Given the description of an element on the screen output the (x, y) to click on. 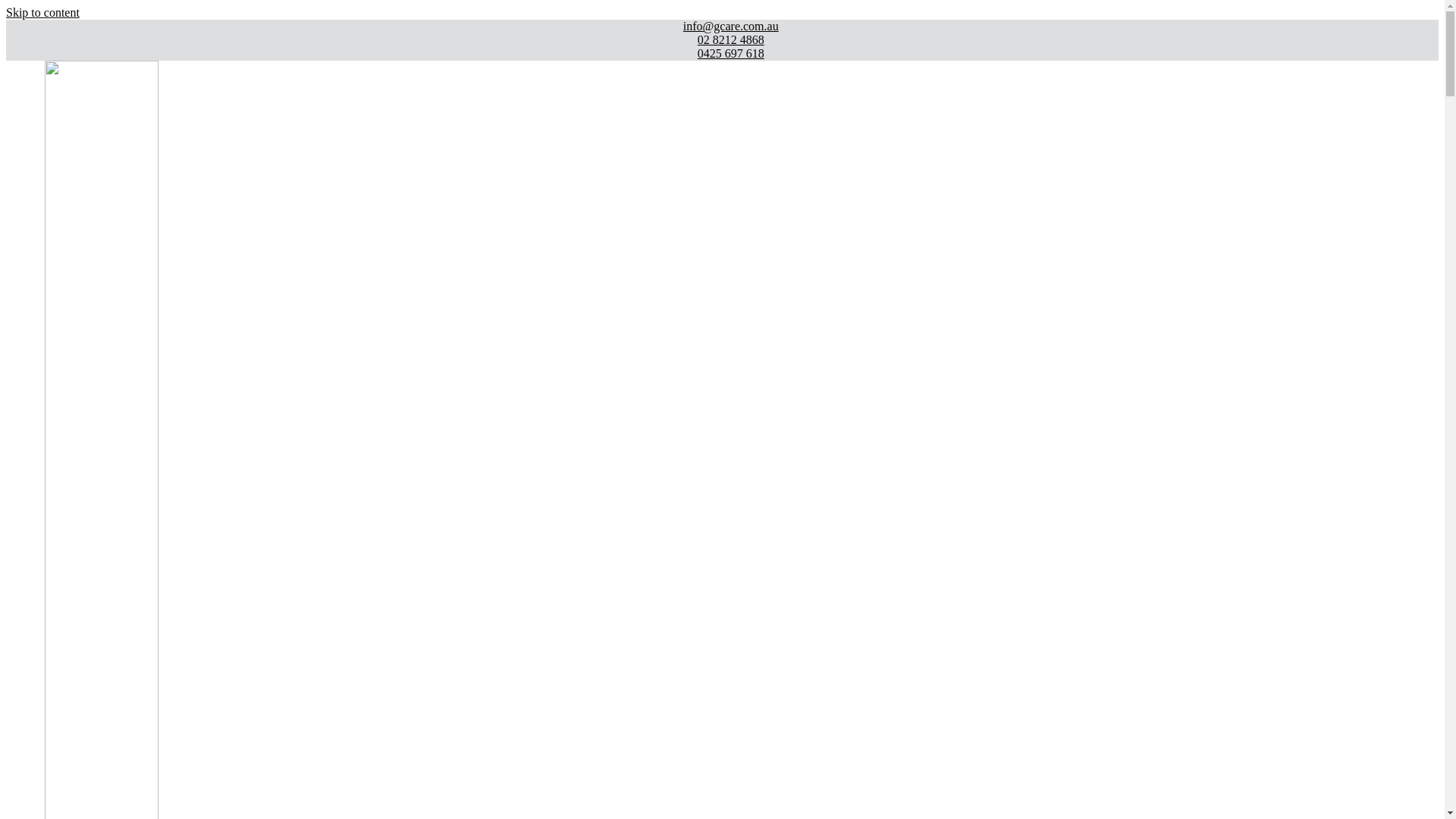
0425 697 618 Element type: text (721, 53)
Skip to content Element type: text (42, 12)
info@gcare.com.au Element type: text (721, 26)
02 8212 4868 Element type: text (721, 40)
